Given the description of an element on the screen output the (x, y) to click on. 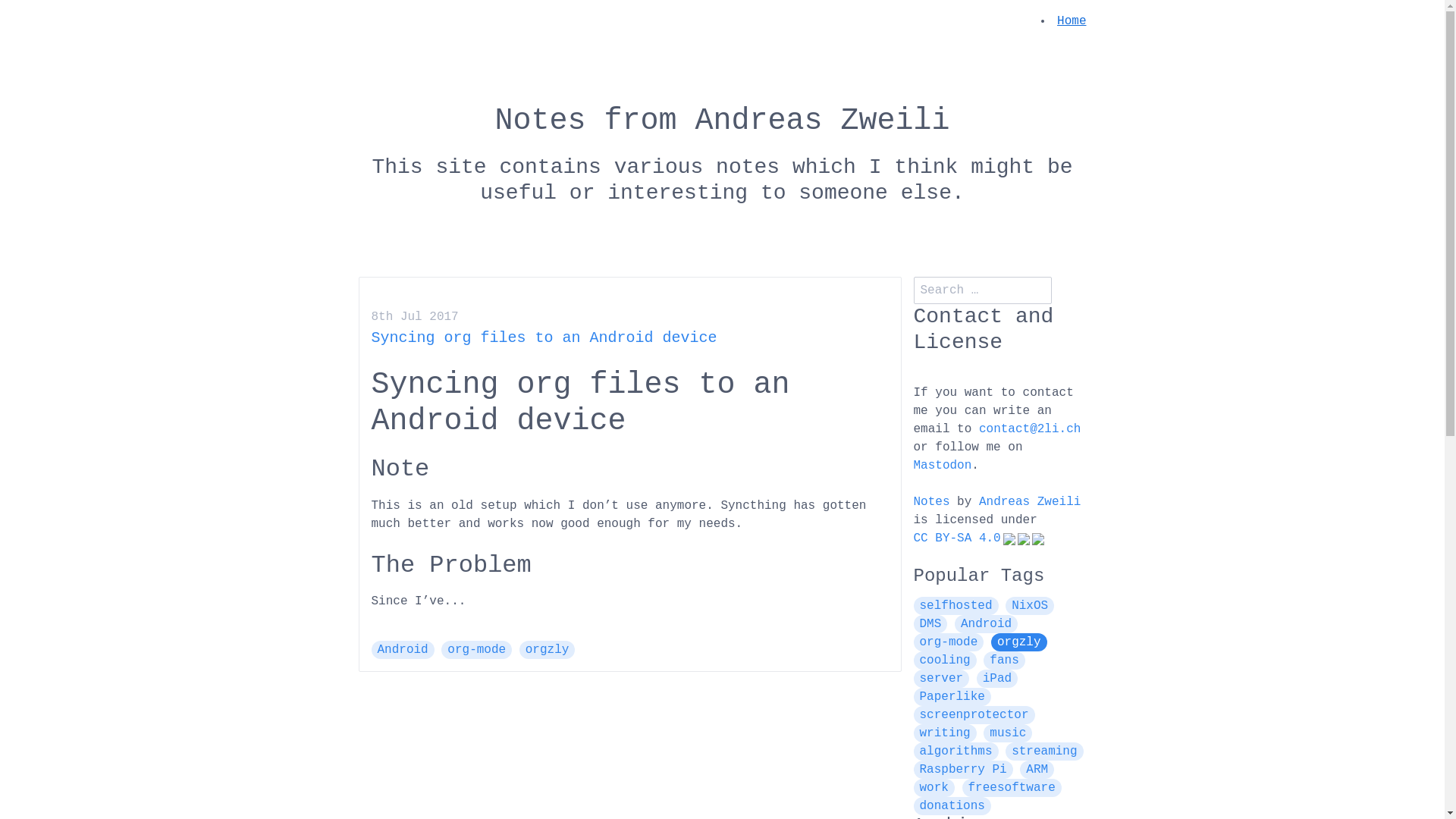
contact@2li.ch Element type: text (1029, 429)
ARM Element type: text (1036, 769)
selfhosted Element type: text (955, 605)
Home Element type: text (1071, 21)
DMS Element type: text (930, 624)
streaming Element type: text (1043, 751)
orgzly Element type: text (547, 649)
Syncing org files to an Android device Element type: text (544, 337)
CC BY-SA 4.0 Element type: text (978, 538)
server Element type: text (941, 678)
work Element type: text (933, 787)
screenprotector Element type: text (973, 715)
Andreas Zweili Element type: text (1029, 501)
music Element type: text (1007, 733)
Android Element type: text (402, 649)
Notes Element type: text (931, 501)
orgzly Element type: text (1019, 642)
Android Element type: text (985, 624)
Paperlike Element type: text (951, 696)
cooling Element type: text (944, 660)
iPad Element type: text (996, 678)
Raspberry Pi Element type: text (962, 769)
fans Element type: text (1003, 660)
org-mode Element type: text (948, 642)
freesoftware Element type: text (1011, 787)
donations Element type: text (951, 806)
writing Element type: text (944, 733)
algorithms Element type: text (955, 751)
Mastodon Element type: text (942, 465)
NixOS Element type: text (1029, 605)
org-mode Element type: text (476, 649)
